Given the description of an element on the screen output the (x, y) to click on. 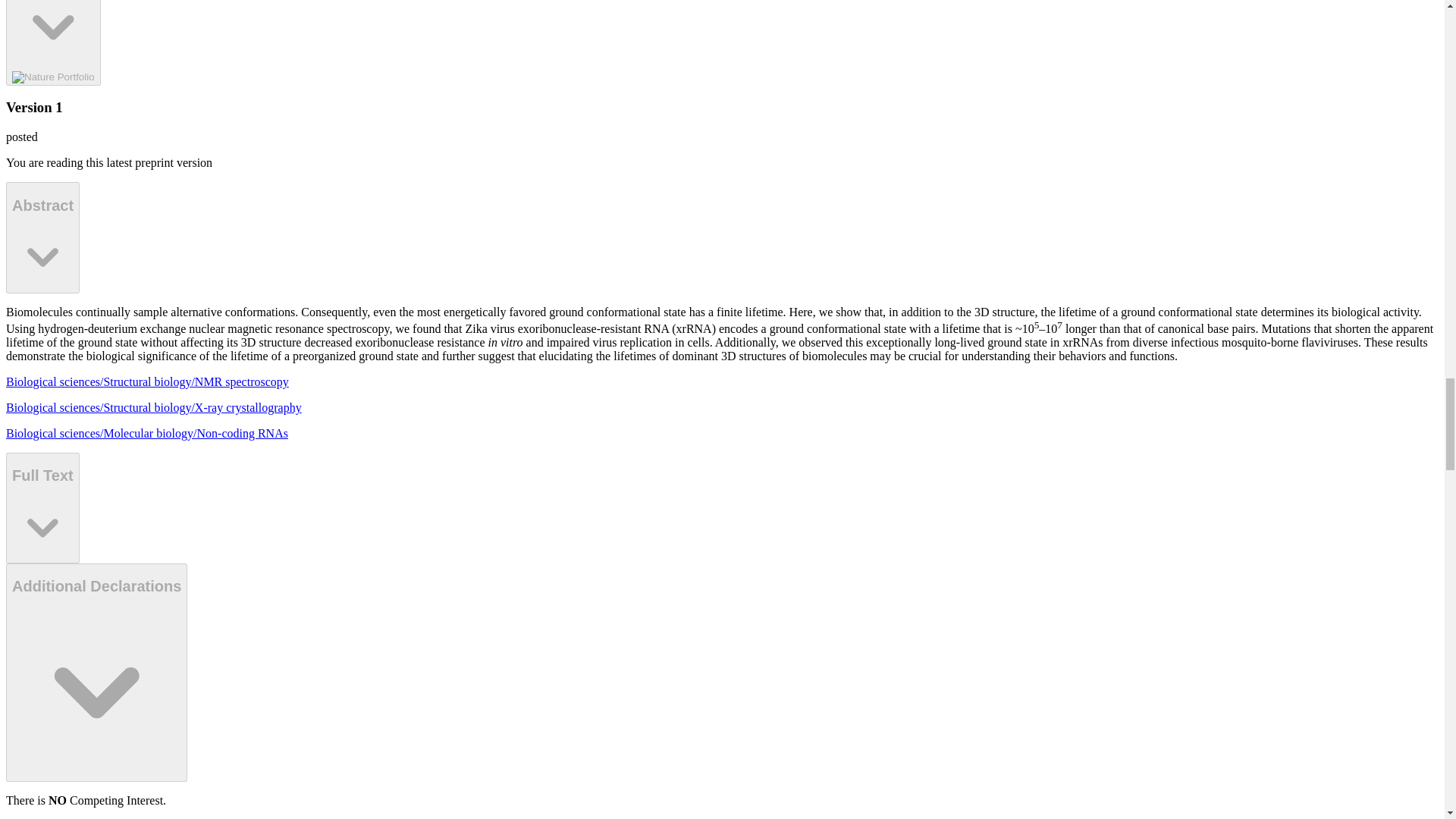
Full Text (42, 507)
Abstract (42, 236)
Additional Declarations (52, 42)
